Given the description of an element on the screen output the (x, y) to click on. 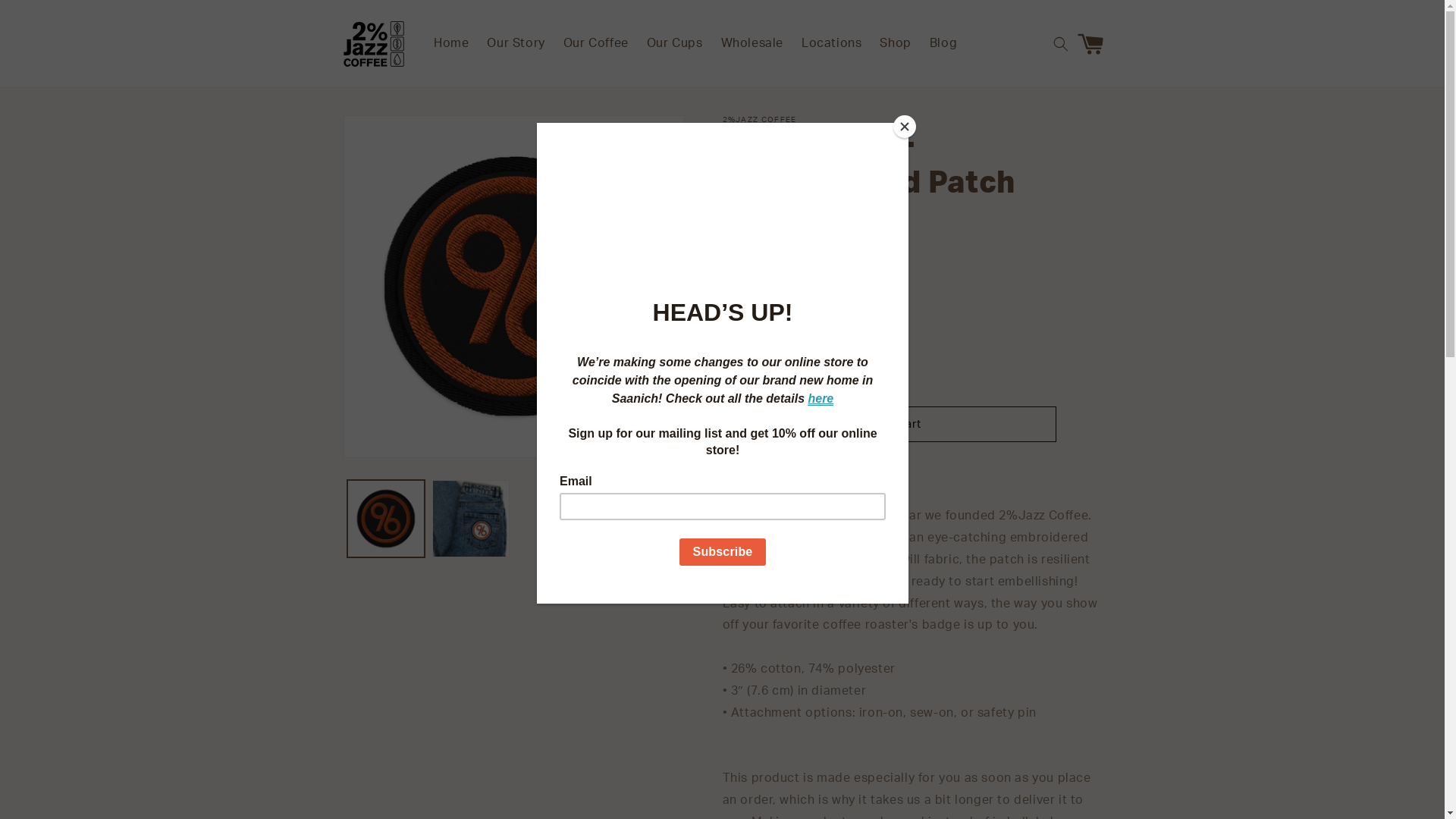
Our Coffee Element type: text (595, 43)
Decrease quantity for 2% Jazz 96 - Embroidered Patch Element type: text (740, 369)
Our Cups Element type: text (674, 43)
Wholesale Element type: text (752, 43)
Locations Element type: text (831, 43)
Increase quantity for 2% Jazz 96 - Embroidered Patch Element type: text (811, 369)
Shop Element type: text (894, 43)
Shipping Element type: text (742, 246)
Cart Element type: text (1093, 43)
Blog Element type: text (943, 43)
Skip to product information Element type: text (388, 132)
Add to cart Element type: text (888, 424)
Our Story Element type: text (515, 43)
Home Element type: text (450, 43)
